Given the description of an element on the screen output the (x, y) to click on. 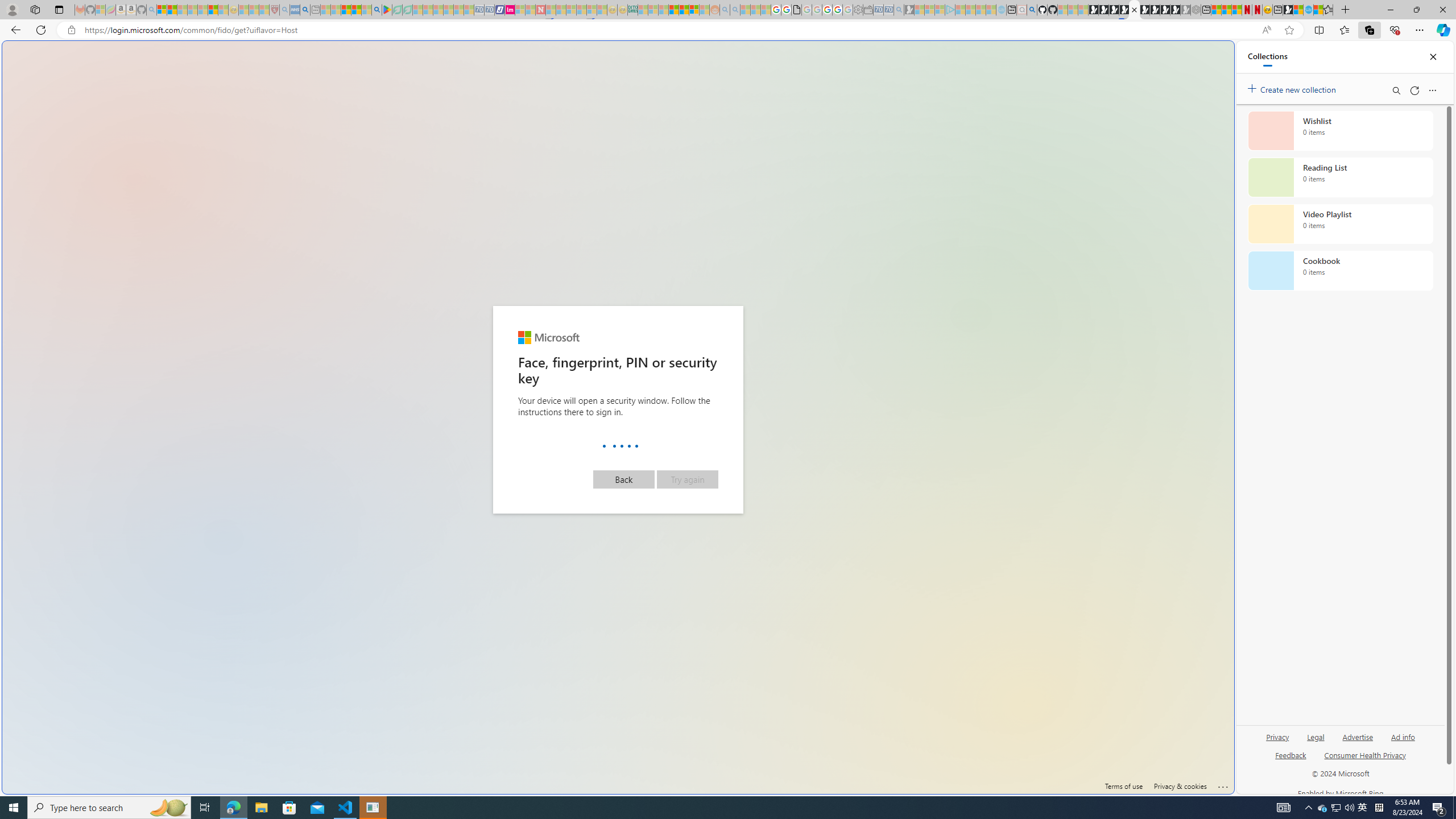
Home | Sky Blue Bikes - Sky Blue Bikes (1118, 242)
Microsoft Start Gaming - Sleeping (908, 9)
Video Playlist collection, 0 items (1339, 223)
Jobs - lastminute.com Investor Portal (509, 9)
Create new collection (1293, 87)
Consumer Health Privacy (1364, 754)
